Given the description of an element on the screen output the (x, y) to click on. 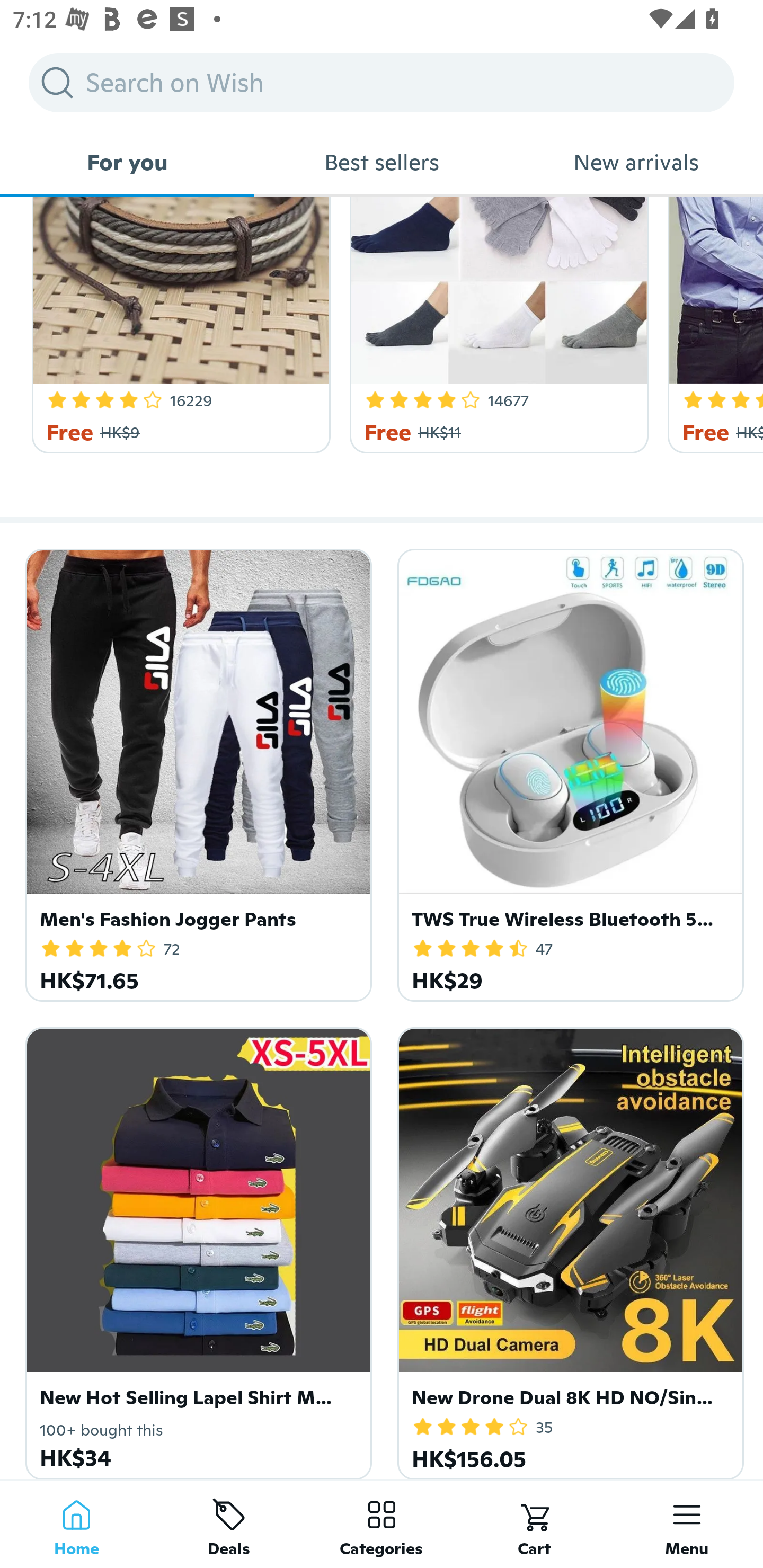
Search on Wish (381, 82)
For you (127, 161)
Best sellers (381, 161)
New arrivals (635, 161)
3.8 Star Rating 16229 Free HK$9 (177, 325)
4.2 Star Rating 14677 Free HK$11 (495, 325)
Home (76, 1523)
Deals (228, 1523)
Categories (381, 1523)
Cart (533, 1523)
Menu (686, 1523)
